Given the description of an element on the screen output the (x, y) to click on. 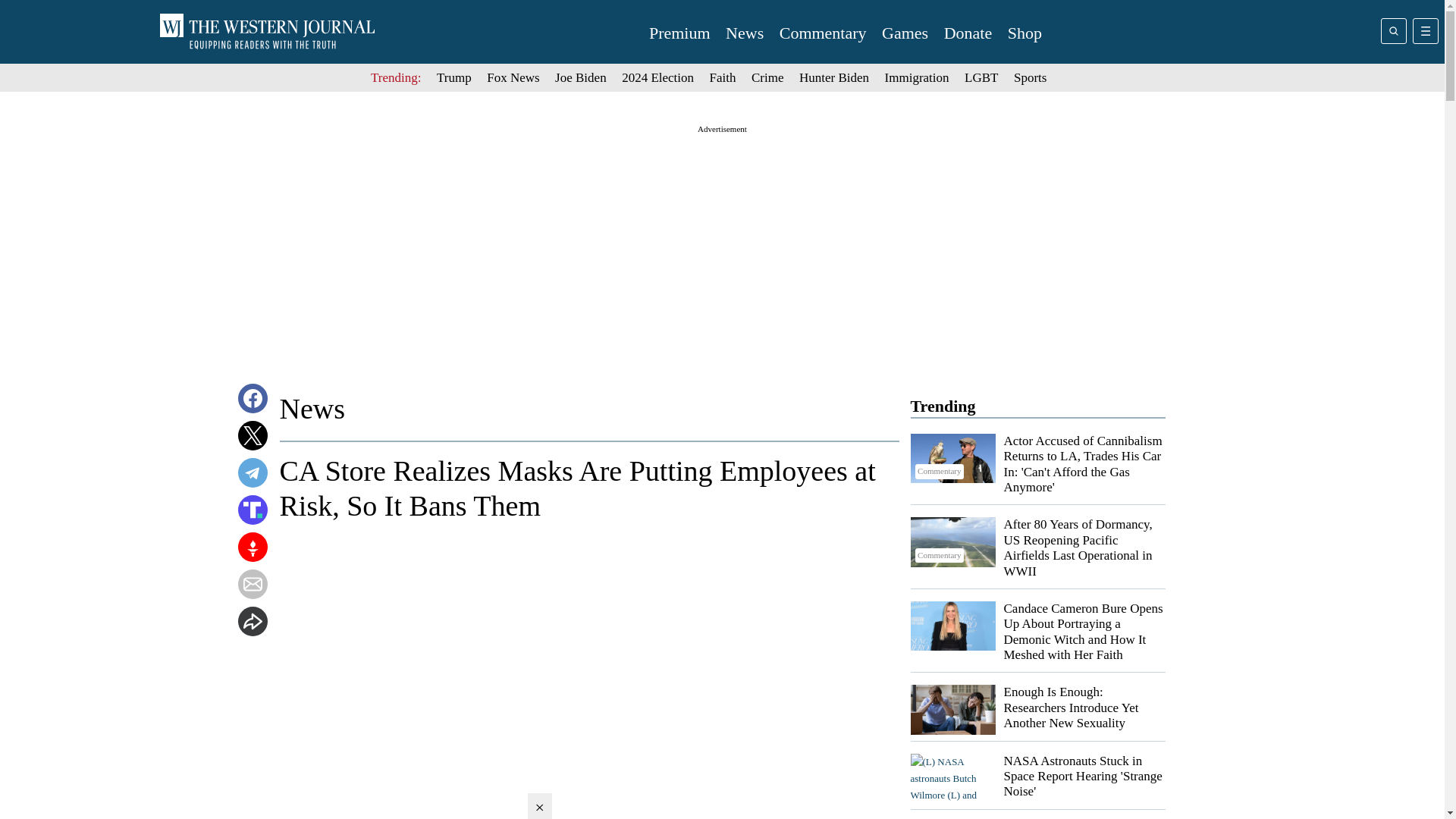
Shop (1024, 32)
Immigration (917, 77)
Hunter Biden (834, 77)
News (743, 32)
LGBT (980, 77)
Crime (767, 77)
Trump (453, 77)
